Given the description of an element on the screen output the (x, y) to click on. 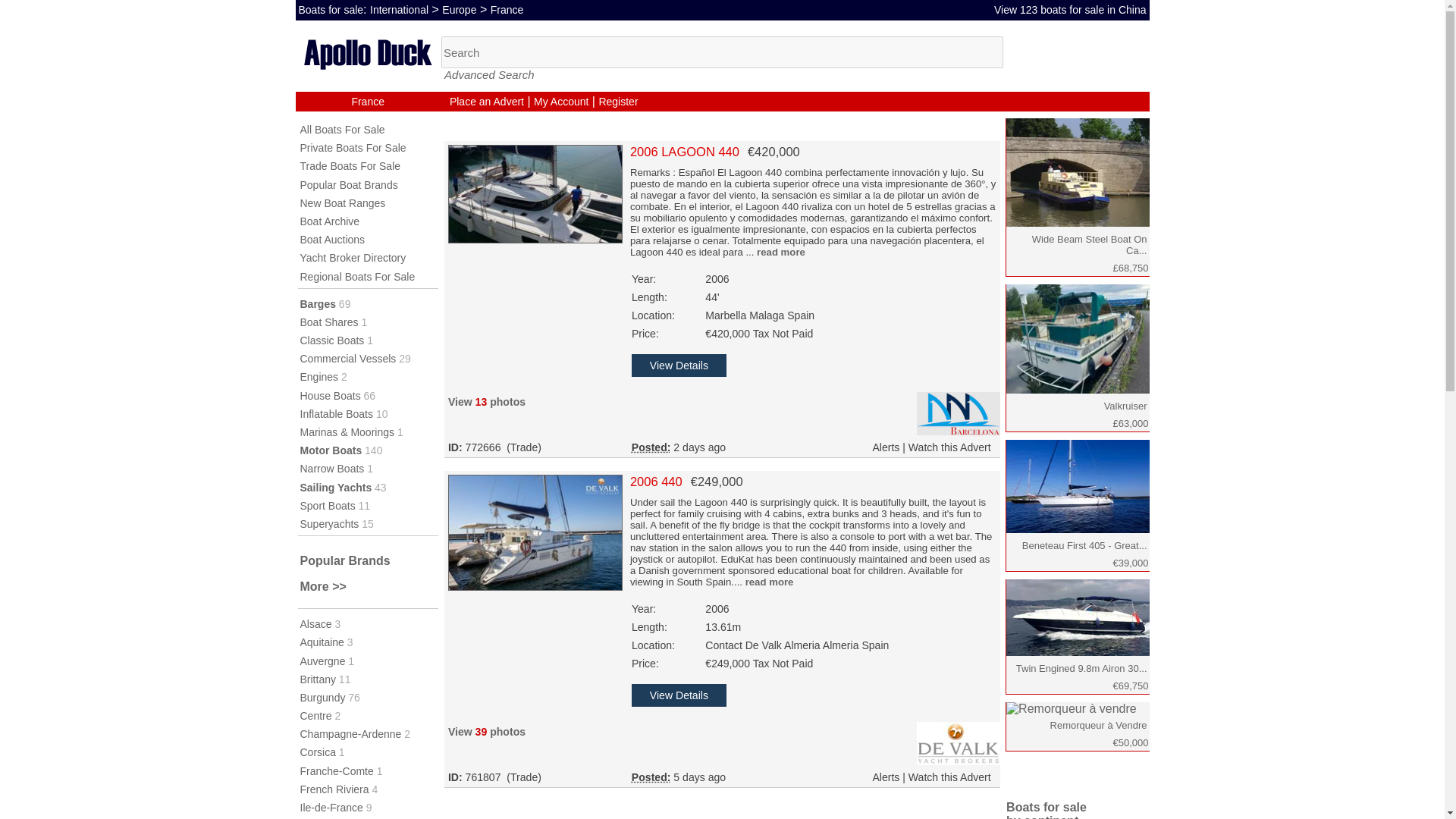
Trade Boats For Sale (350, 165)
All Boats For Sale (342, 129)
Advanced Search (489, 74)
Sport Boats (327, 505)
France (367, 101)
Commercial Vessels (347, 358)
Popular Brands (344, 560)
Yacht Broker Directory (352, 257)
Register (617, 101)
Engines (319, 377)
International (398, 9)
Classic Boats (332, 340)
Boats for sale (331, 9)
Aquitaine (321, 642)
Boat Shares (328, 322)
